Given the description of an element on the screen output the (x, y) to click on. 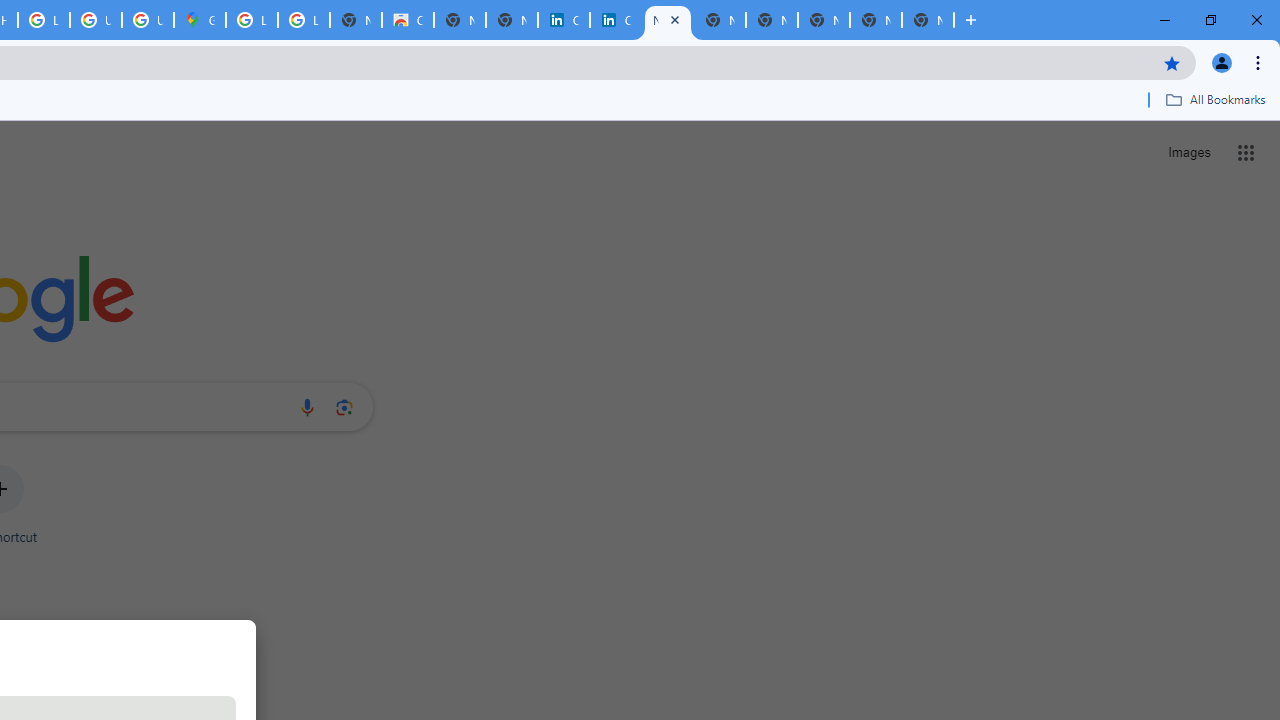
Cookie Policy | LinkedIn (563, 20)
